Given the description of an element on the screen output the (x, y) to click on. 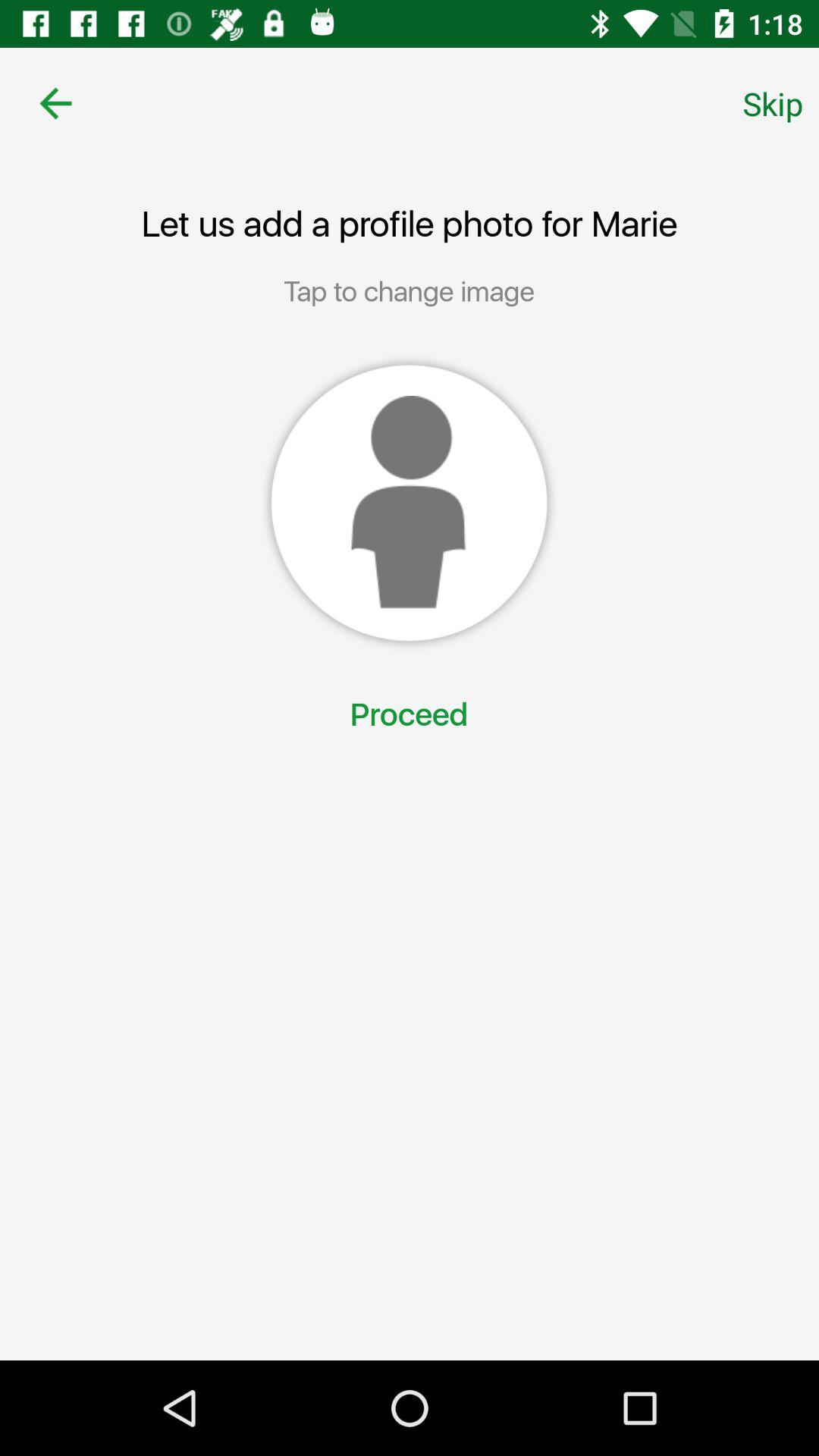
swipe to the skip (772, 103)
